Given the description of an element on the screen output the (x, y) to click on. 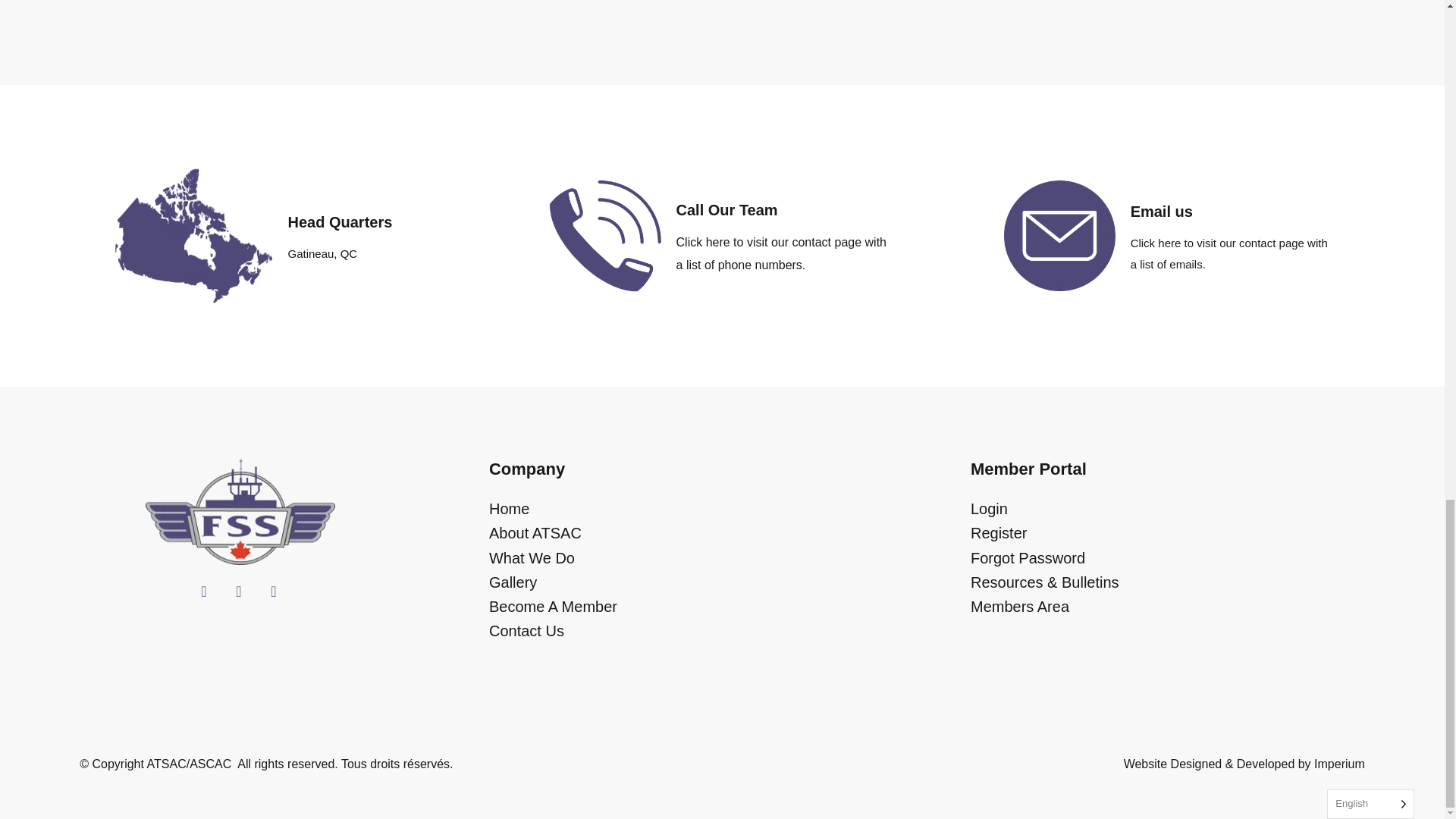
Contact Us (722, 631)
Gallery (722, 582)
About ATSAC (722, 533)
Login (1204, 509)
Email us (1161, 211)
What We Do (722, 558)
Become A Member (722, 606)
Home (722, 509)
Call Our Team (727, 209)
Head Quarters (338, 221)
